Given the description of an element on the screen output the (x, y) to click on. 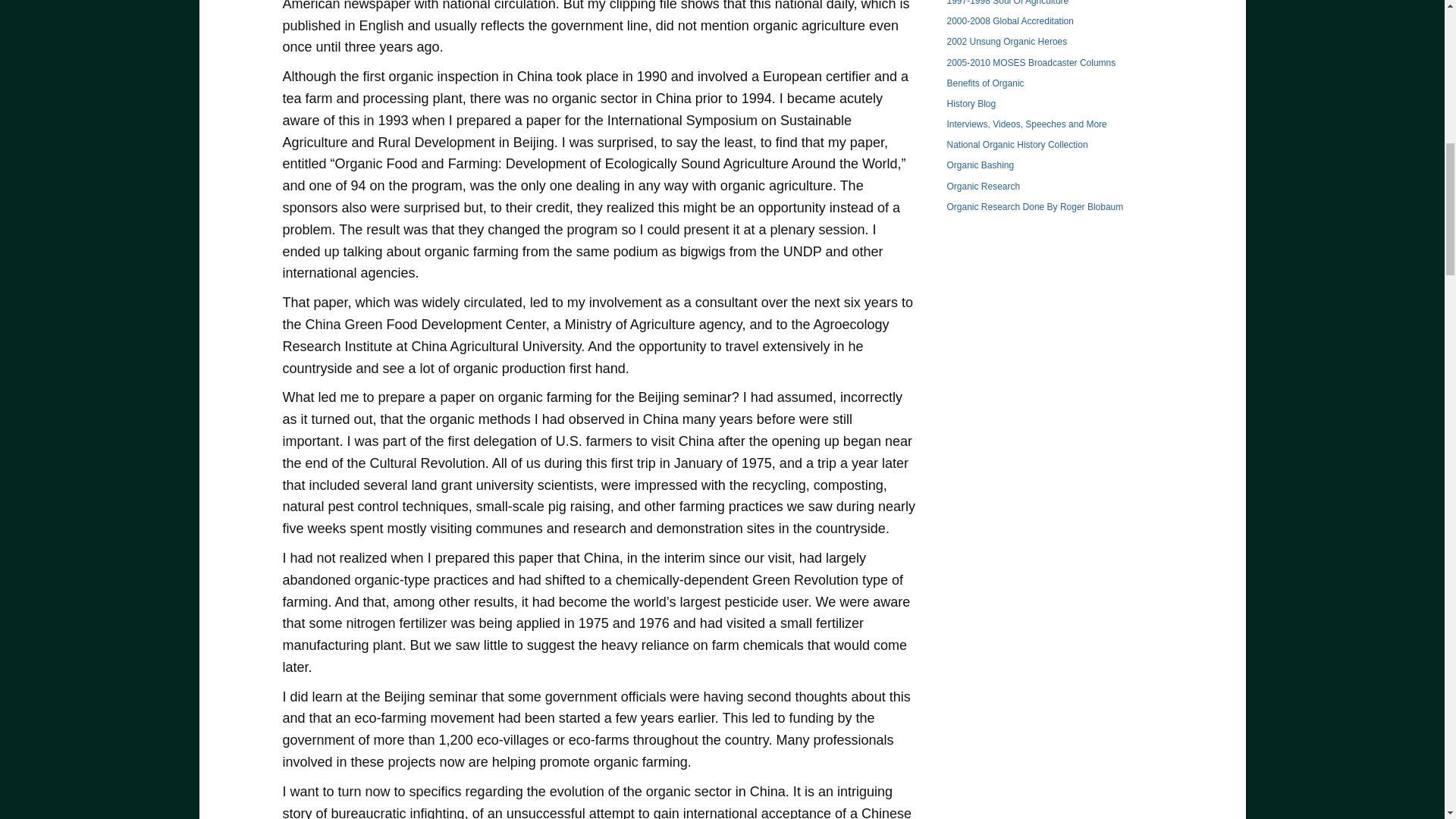
Interviews, Videos, Speeches and More (1026, 123)
National Organic History Collection (1016, 144)
2000-2008 Global Accreditation (1009, 20)
Organic Bashing (979, 164)
Organic Research Done By Roger Blobaum (1034, 206)
History Blog (970, 103)
2002 Unsung Organic Heroes (1006, 41)
Organic Research (983, 185)
2005-2010 MOSES Broadcaster Columns (1030, 62)
Benefits of Organic (984, 82)
